Given the description of an element on the screen output the (x, y) to click on. 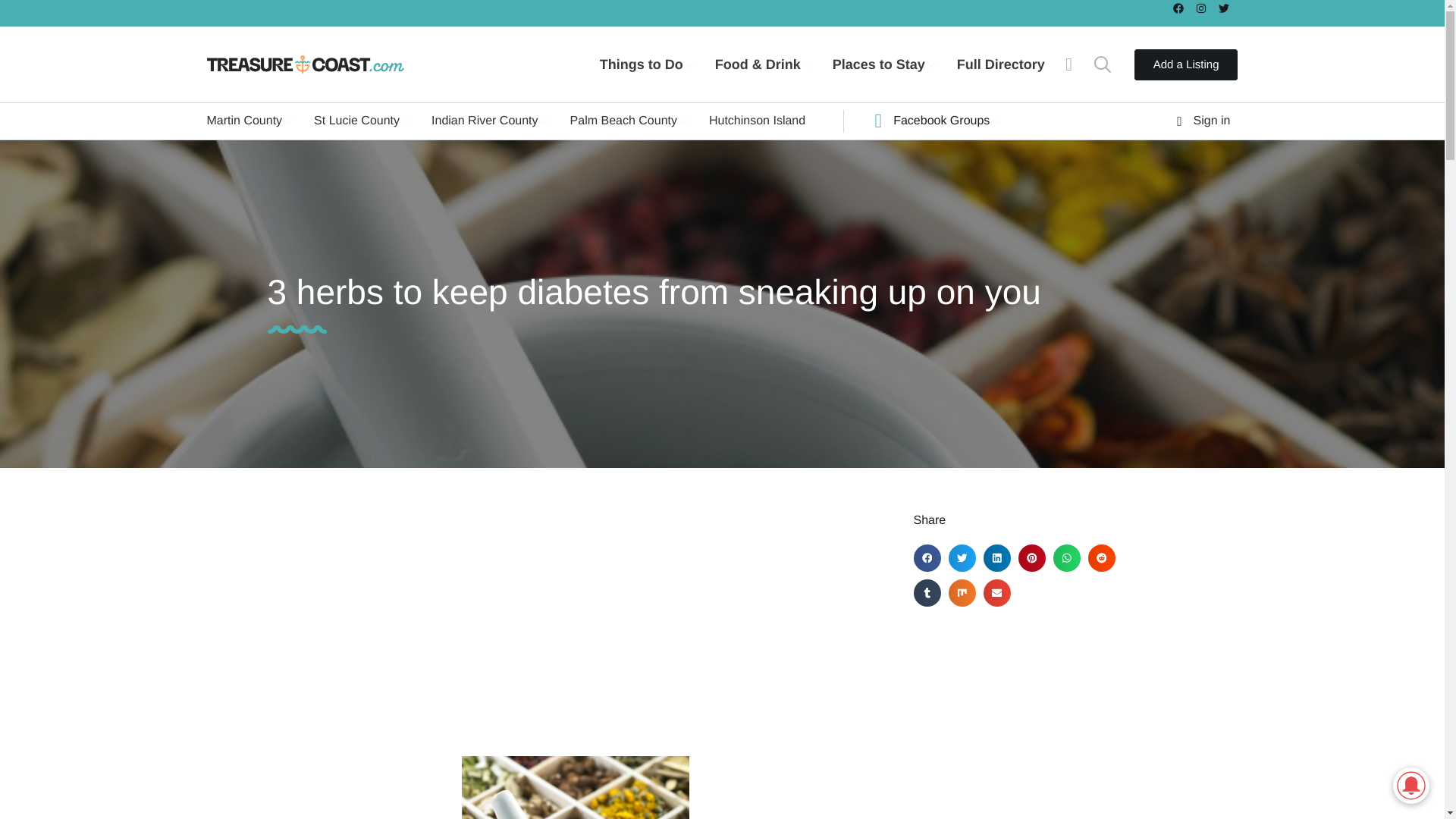
Things to Do (656, 64)
Facebook Groups (944, 120)
Places to Stay (894, 64)
Advertisement (574, 619)
Add a Listing (1186, 63)
Full Directory (1011, 64)
Advertisement (1044, 720)
